Given the description of an element on the screen output the (x, y) to click on. 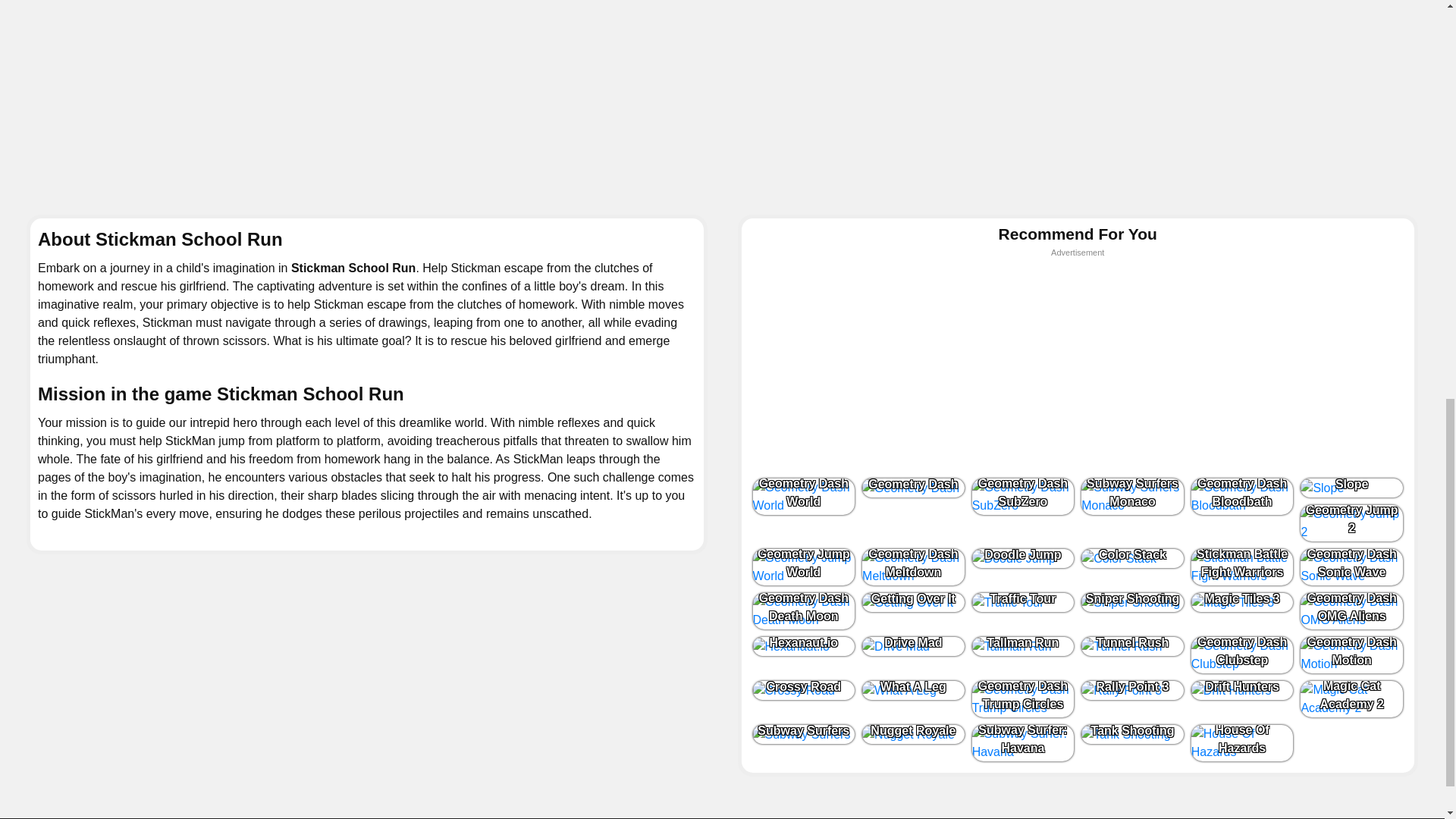
Slope (1351, 487)
Geometry Dash (913, 487)
Geometry Dash Bloodbath (1242, 496)
Subway Surfers Monaco (1132, 496)
Geometry Dash World (804, 496)
Geometry Dash SubZero (1023, 496)
